Given the description of an element on the screen output the (x, y) to click on. 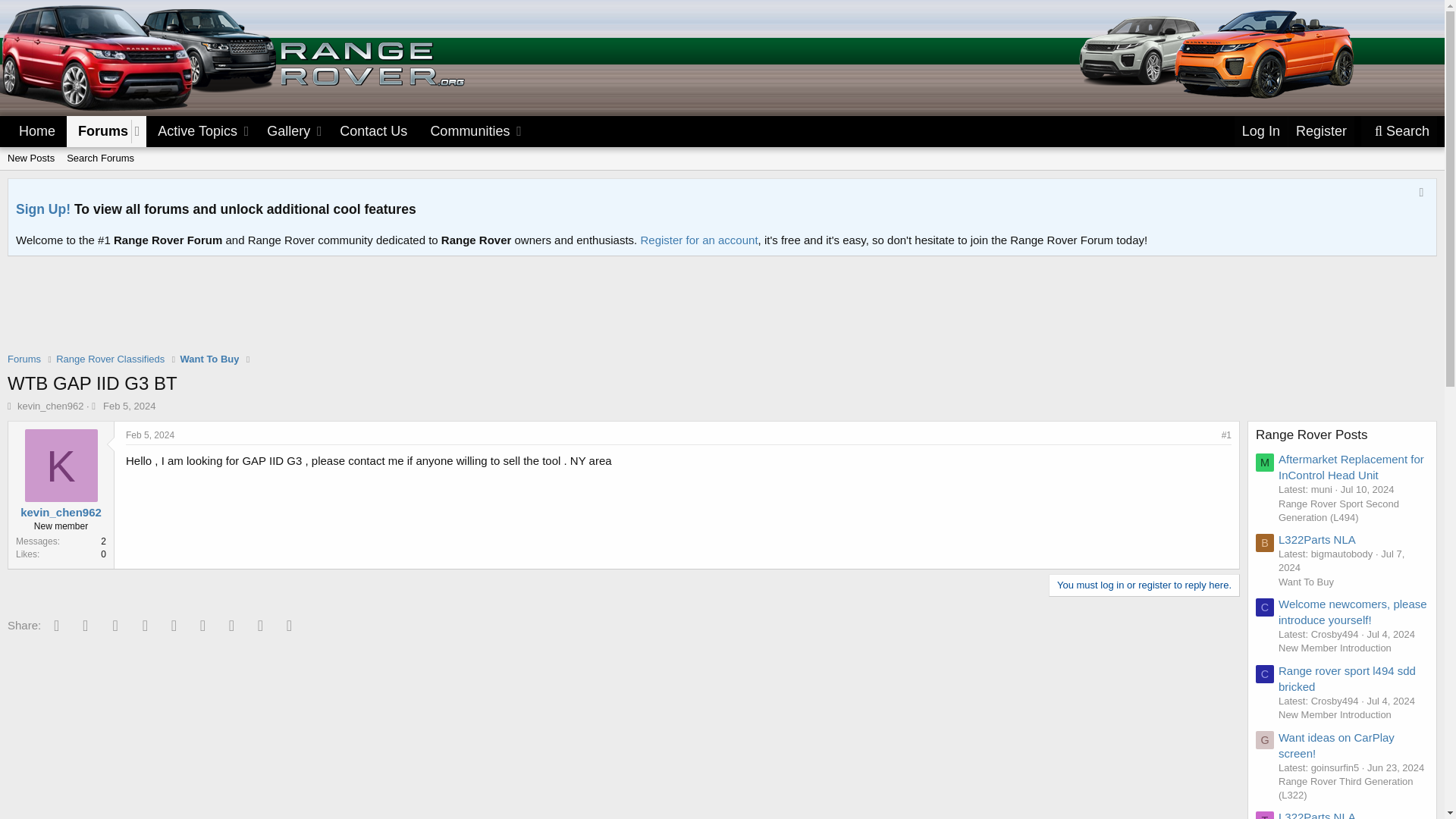
Home (36, 131)
Jul 10, 2024 at 7:55 PM (1367, 489)
Jul 7, 2024 at 7:19 AM (1341, 560)
Jul 4, 2024 at 9:09 AM (1391, 700)
Advertisement (721, 314)
Search Forums (100, 158)
Feb 5, 2024 at 9:29 AM (149, 434)
Register for an account (698, 239)
Register (1320, 131)
Jul 4, 2024 at 9:16 AM (1391, 633)
Start date (95, 406)
Thread starter (721, 175)
Jun 23, 2024 at 10:38 PM (10, 406)
Log In (1395, 767)
